Given the description of an element on the screen output the (x, y) to click on. 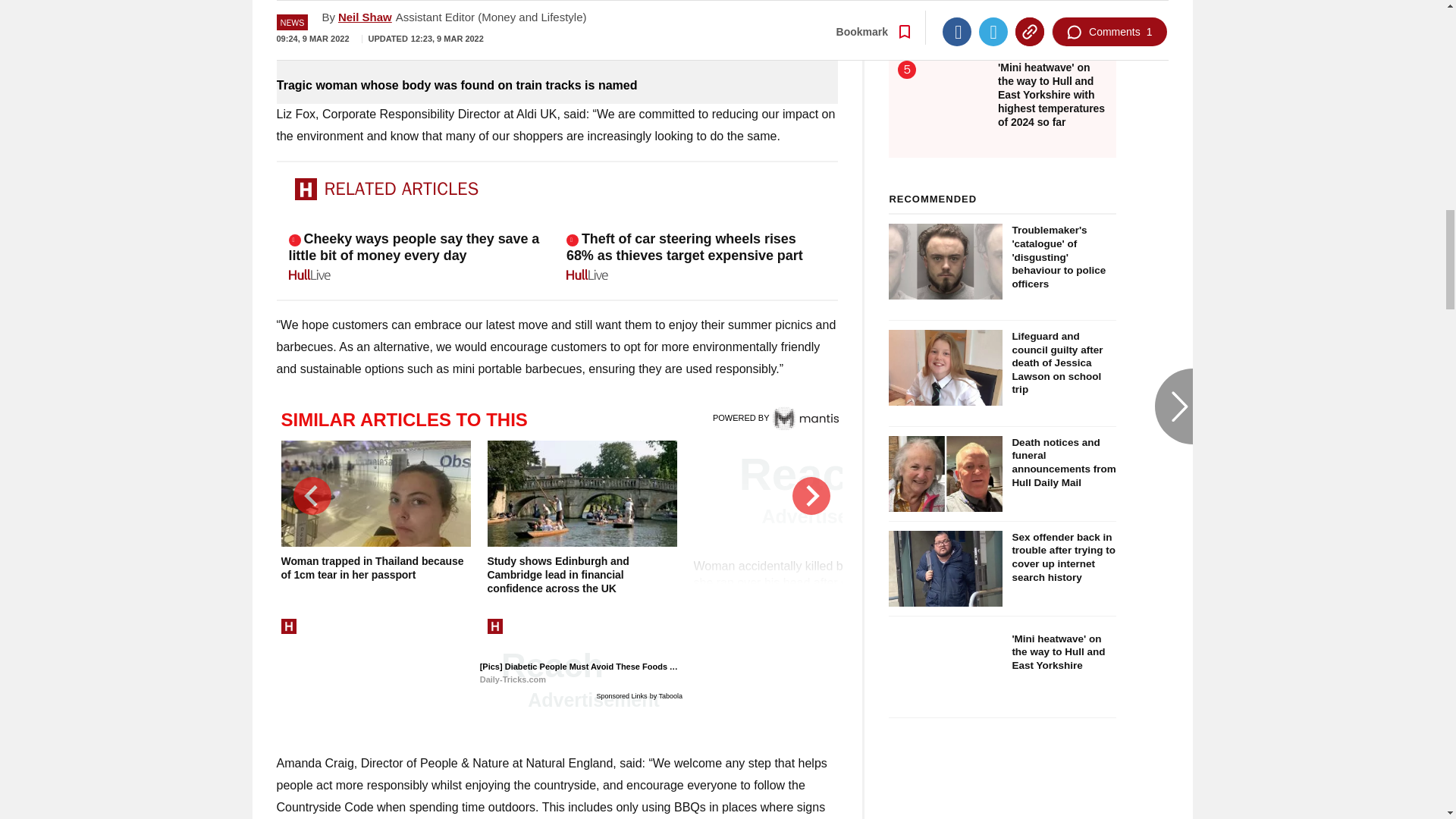
Tragic woman whose body was found on train tracks is named (557, 36)
Tragic woman whose body was found on train tracks is named (557, 85)
